Given the description of an element on the screen output the (x, y) to click on. 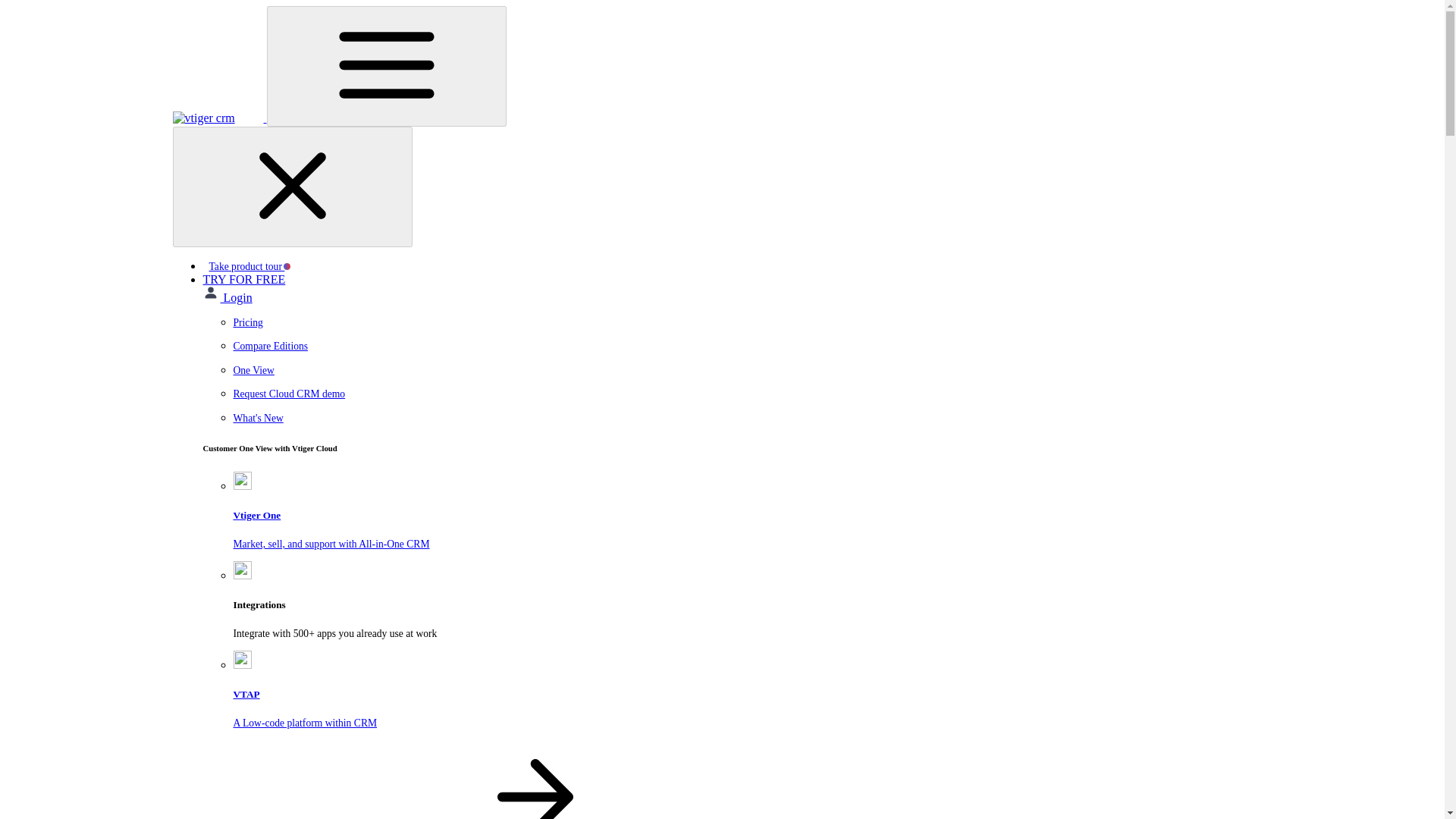
Pricing (752, 322)
Request Cloud CRM demo (752, 394)
Take product tour (250, 266)
Login (227, 297)
One View (752, 693)
What's New (752, 370)
TRY FOR FREE (752, 418)
Compare Editions (244, 278)
